Given the description of an element on the screen output the (x, y) to click on. 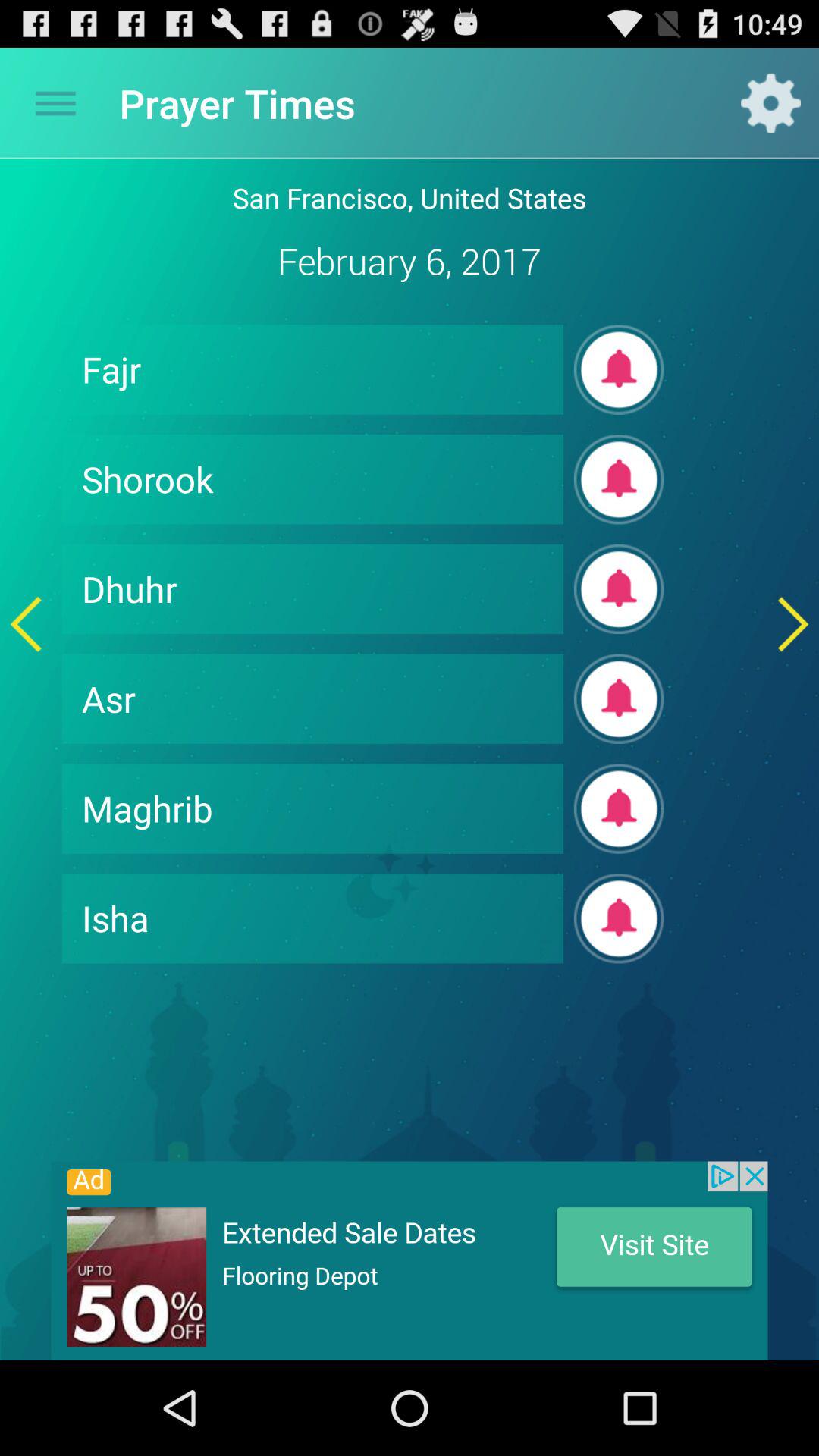
it plays the sound of maghrib (618, 808)
